Given the description of an element on the screen output the (x, y) to click on. 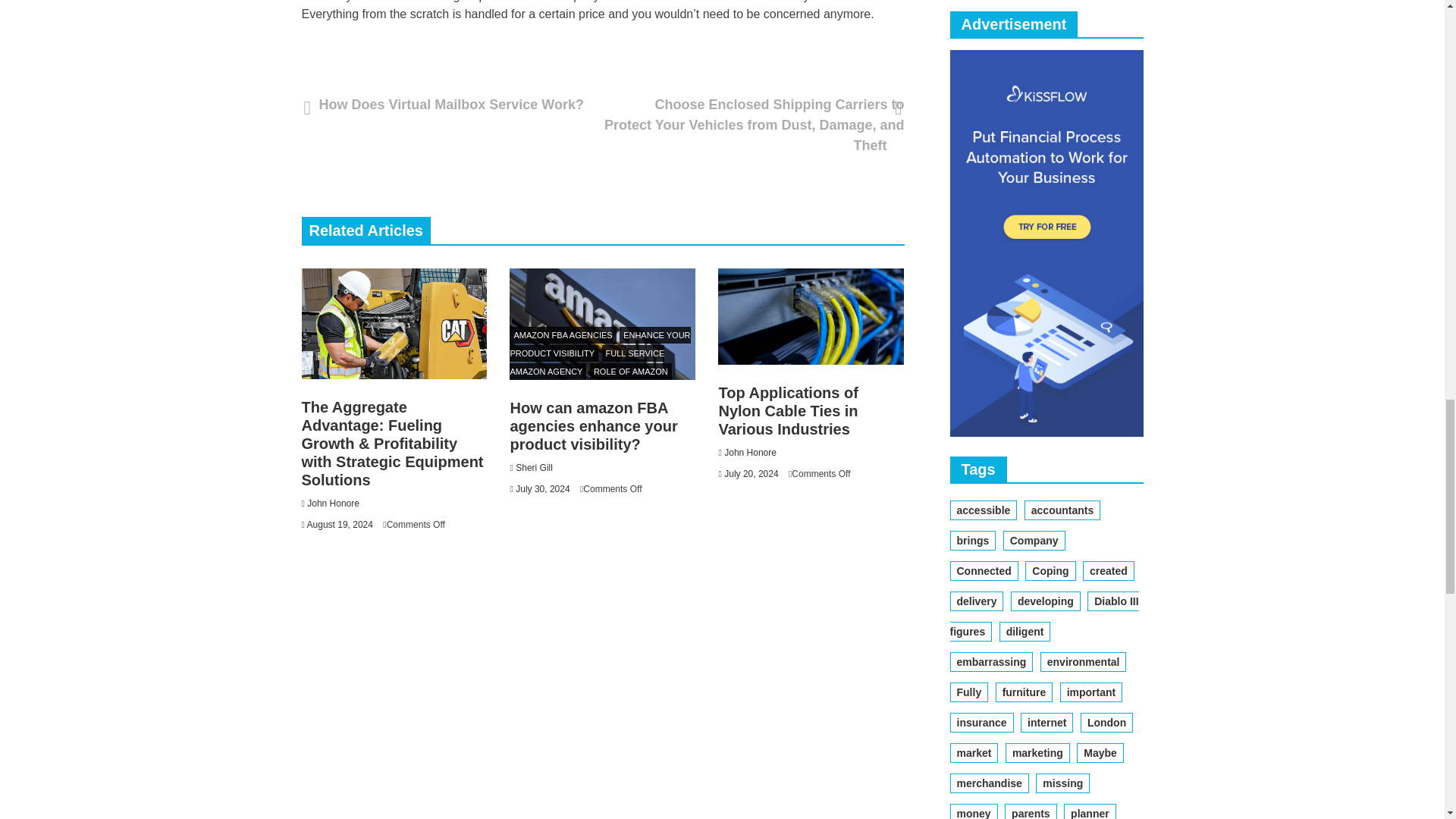
August 19, 2024 (339, 524)
AMAZON FBA AGENCIES (562, 334)
How Does Virtual Mailbox Service Work? (446, 104)
How can amazon FBA agencies enhance your product visibility? (593, 425)
July 30, 2024 (542, 489)
John Honore (333, 502)
ENHANCE YOUR PRODUCT VISIBILITY (599, 343)
house removal (670, 1)
Sheri Gill (534, 467)
